Given the description of an element on the screen output the (x, y) to click on. 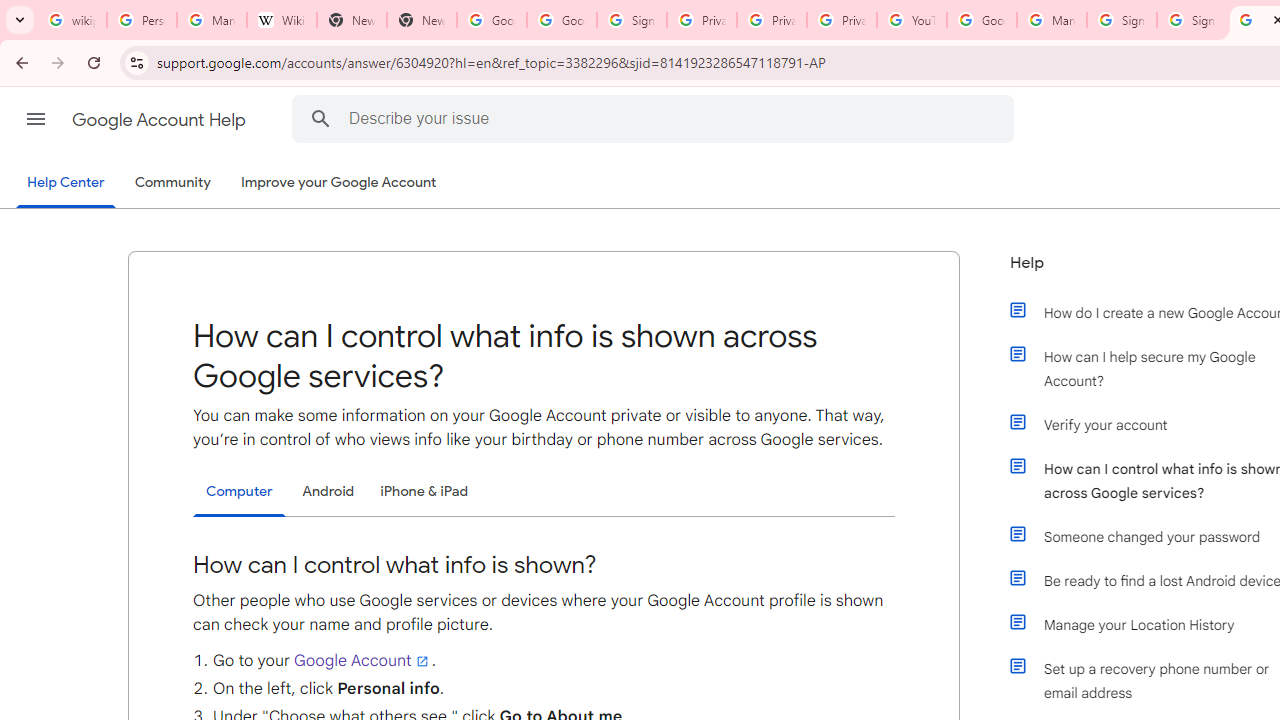
Wikipedia:Edit requests - Wikipedia (282, 20)
Improve your Google Account (339, 183)
Android (328, 491)
Describe your issue (655, 118)
Google Drive: Sign-in (561, 20)
Sign in - Google Accounts (1192, 20)
Google Account (363, 660)
Computer (239, 492)
Help Center (65, 183)
